Given the description of an element on the screen output the (x, y) to click on. 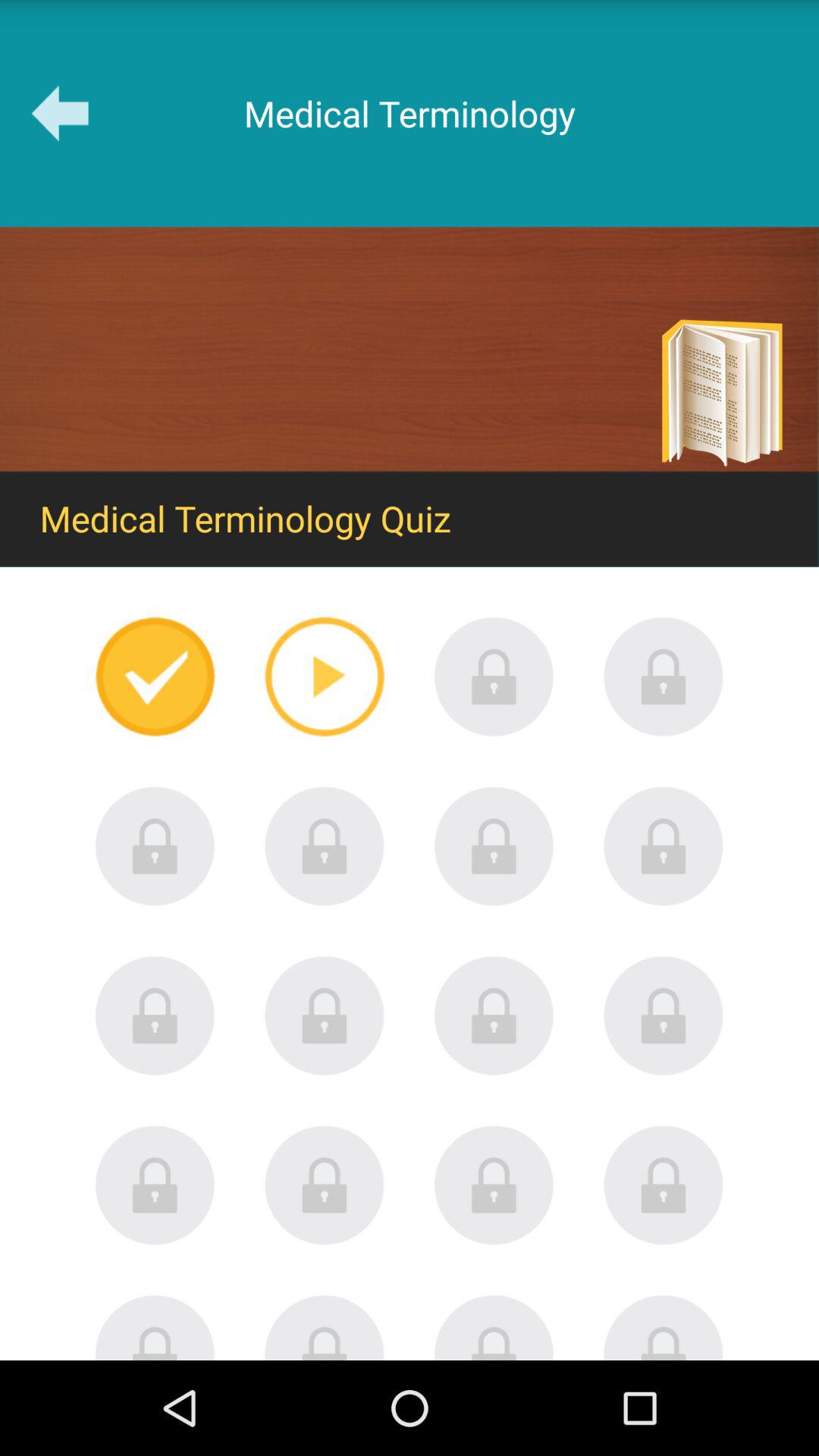
lock (493, 1015)
